Given the description of an element on the screen output the (x, y) to click on. 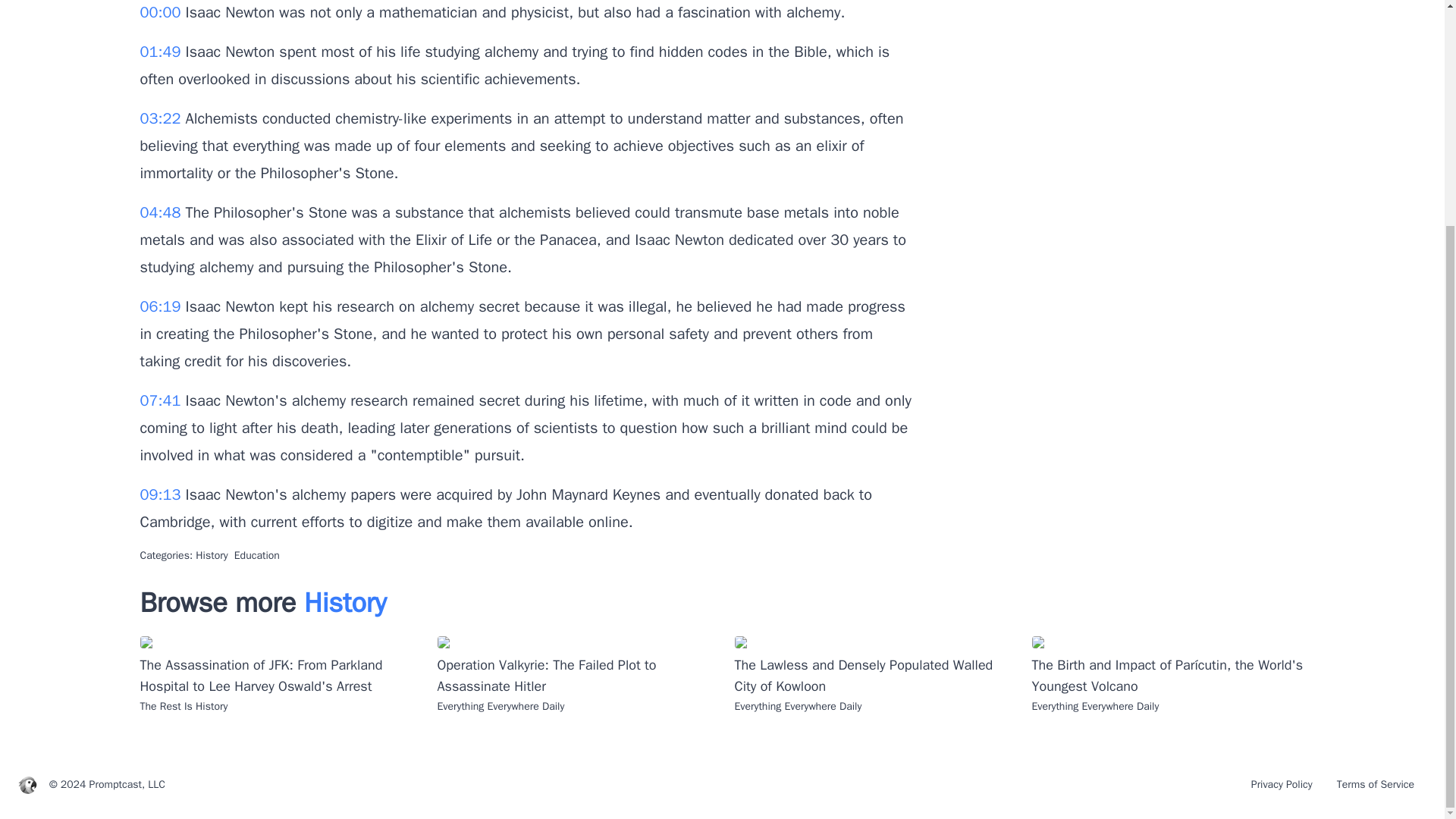
Privacy Policy (1281, 784)
04:48 (161, 212)
06:19 (161, 306)
01:49 (161, 51)
09:13 (161, 494)
03:22 (161, 117)
Education (256, 554)
00:00 (161, 12)
07:41 (161, 400)
